Given the description of an element on the screen output the (x, y) to click on. 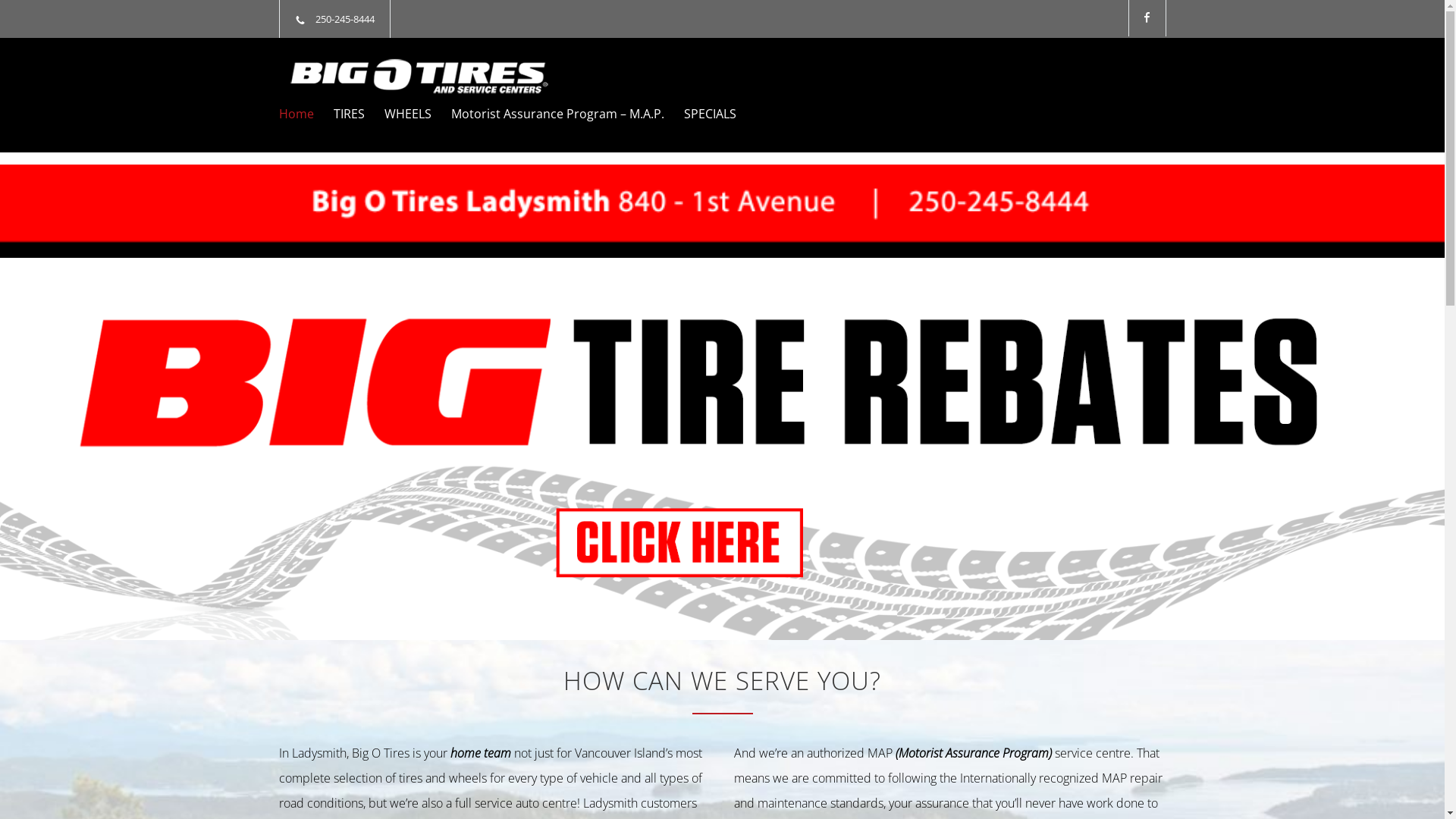
Big O Tires Ladysmith Element type: hover (419, 75)
Home Element type: text (296, 113)
TIRES Element type: text (338, 113)
(Motorist Assurance Program) Element type: text (974, 752)
WHEELS Element type: text (397, 113)
SPECIALS Element type: text (700, 113)
